Given the description of an element on the screen output the (x, y) to click on. 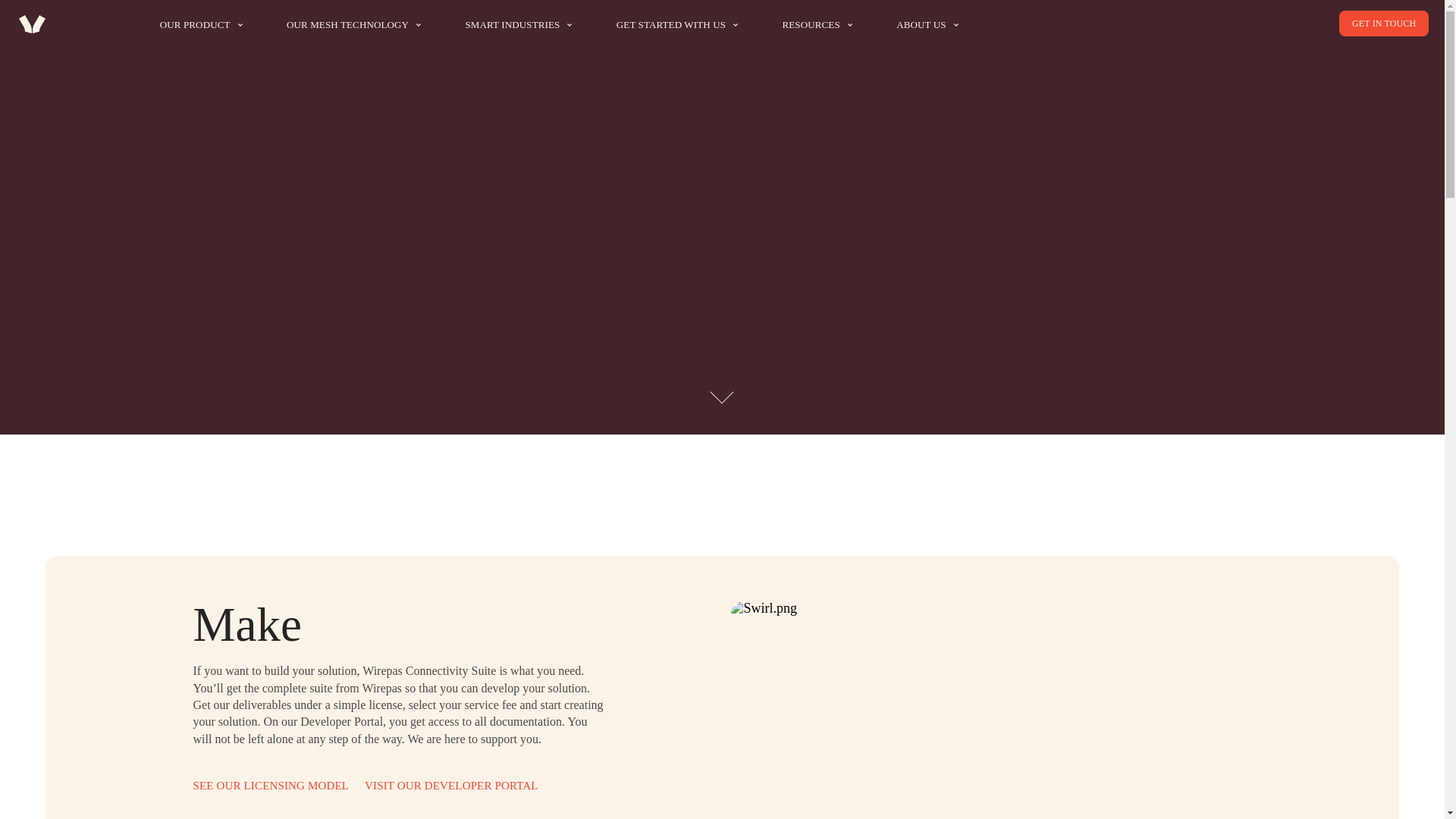
GET IN TOUCH (1383, 23)
OUR PRODUCT (201, 24)
SMART INDUSTRIES (518, 24)
VISIT OUR DEVELOPER PORTAL (451, 785)
ABOUT US (926, 24)
GET STARTED WITH US (676, 24)
RESOURCES (816, 24)
SEE OUR LICENSING MODEL (270, 785)
OUR MESH TECHNOLOGY (353, 24)
